Given the description of an element on the screen output the (x, y) to click on. 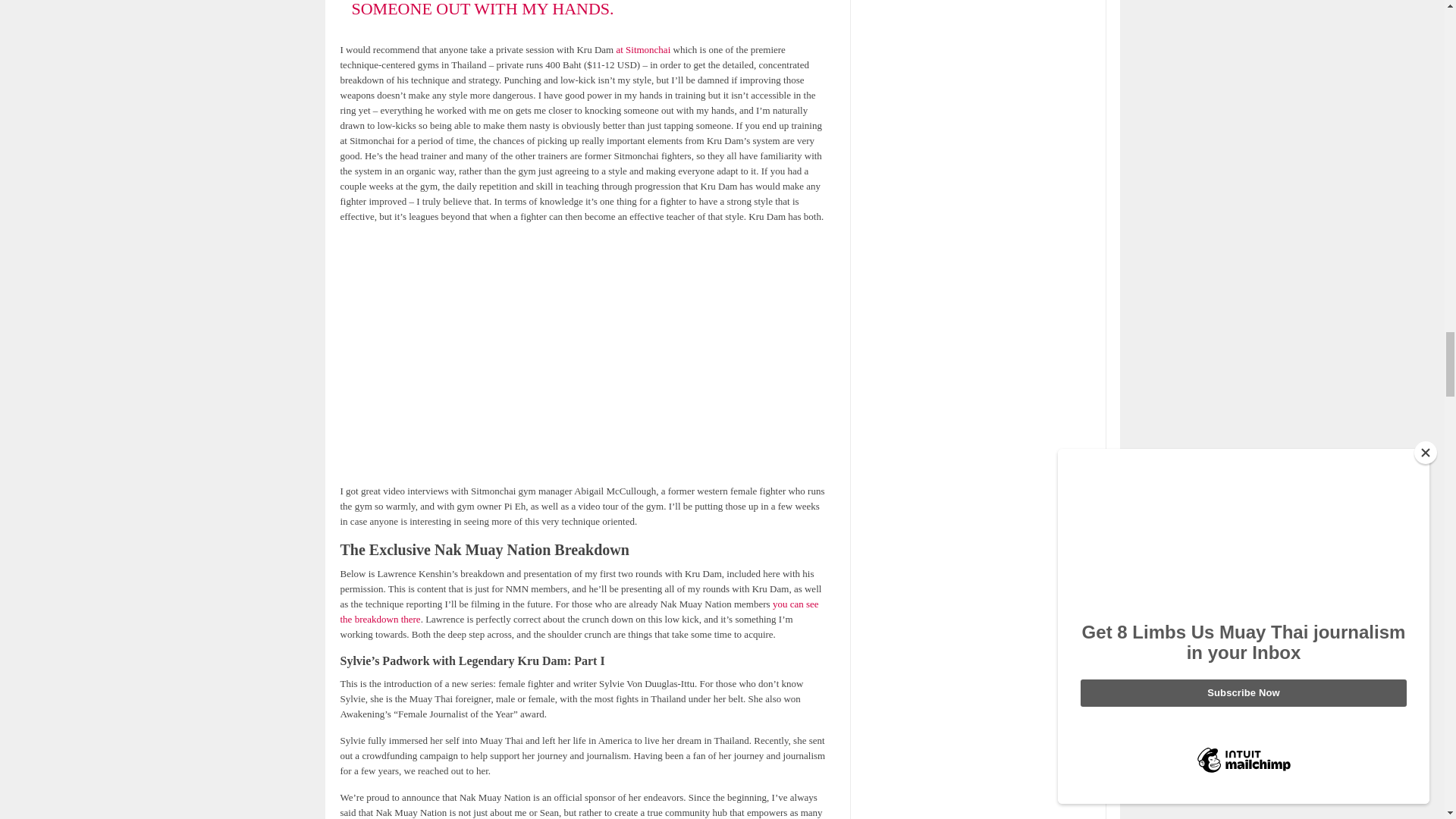
at Sitmonchai (642, 49)
you can see the breakdown there (578, 611)
